Given the description of an element on the screen output the (x, y) to click on. 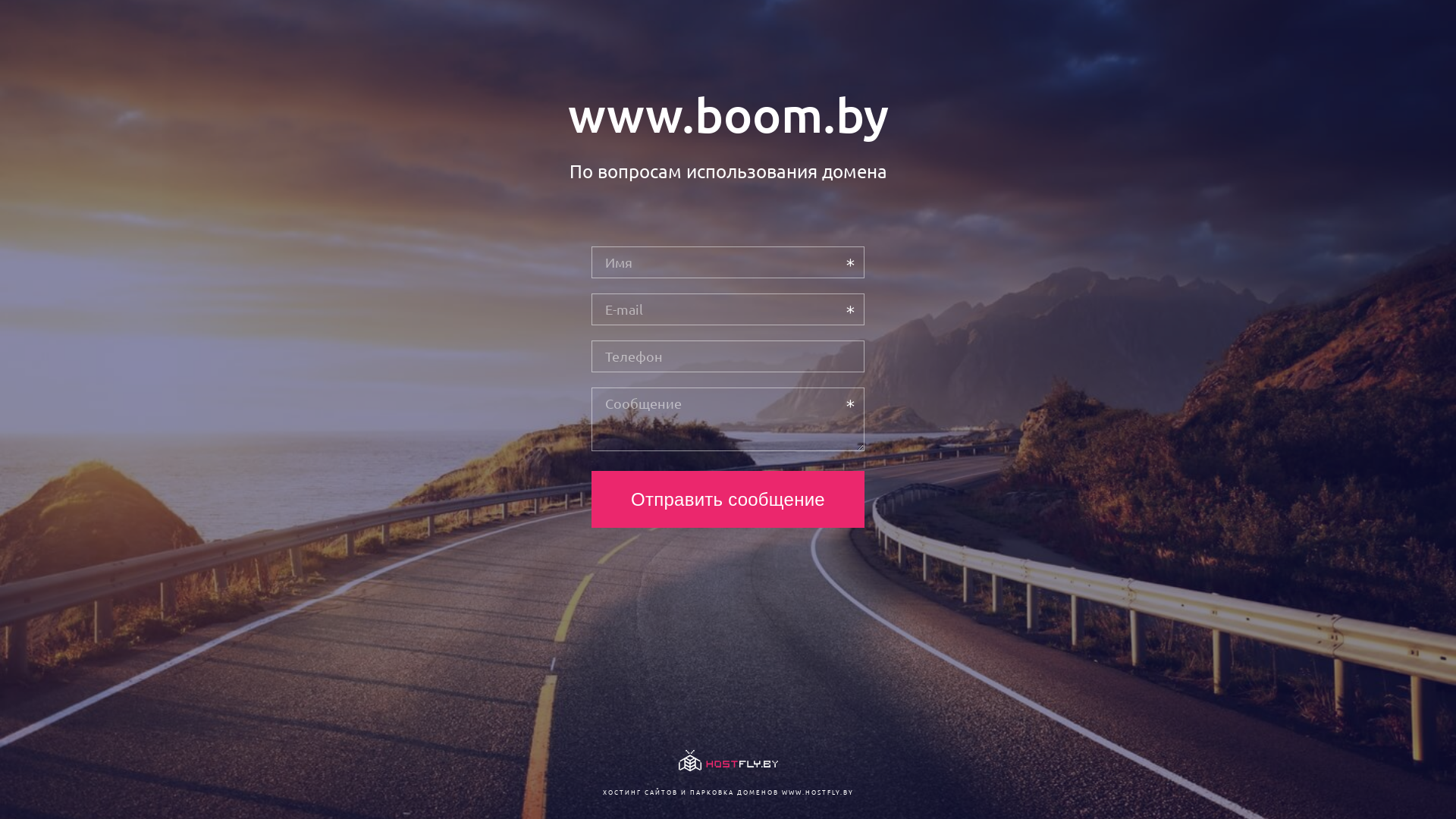
WWW.HOSTFLY.BY Element type: text (817, 791)
